Given the description of an element on the screen output the (x, y) to click on. 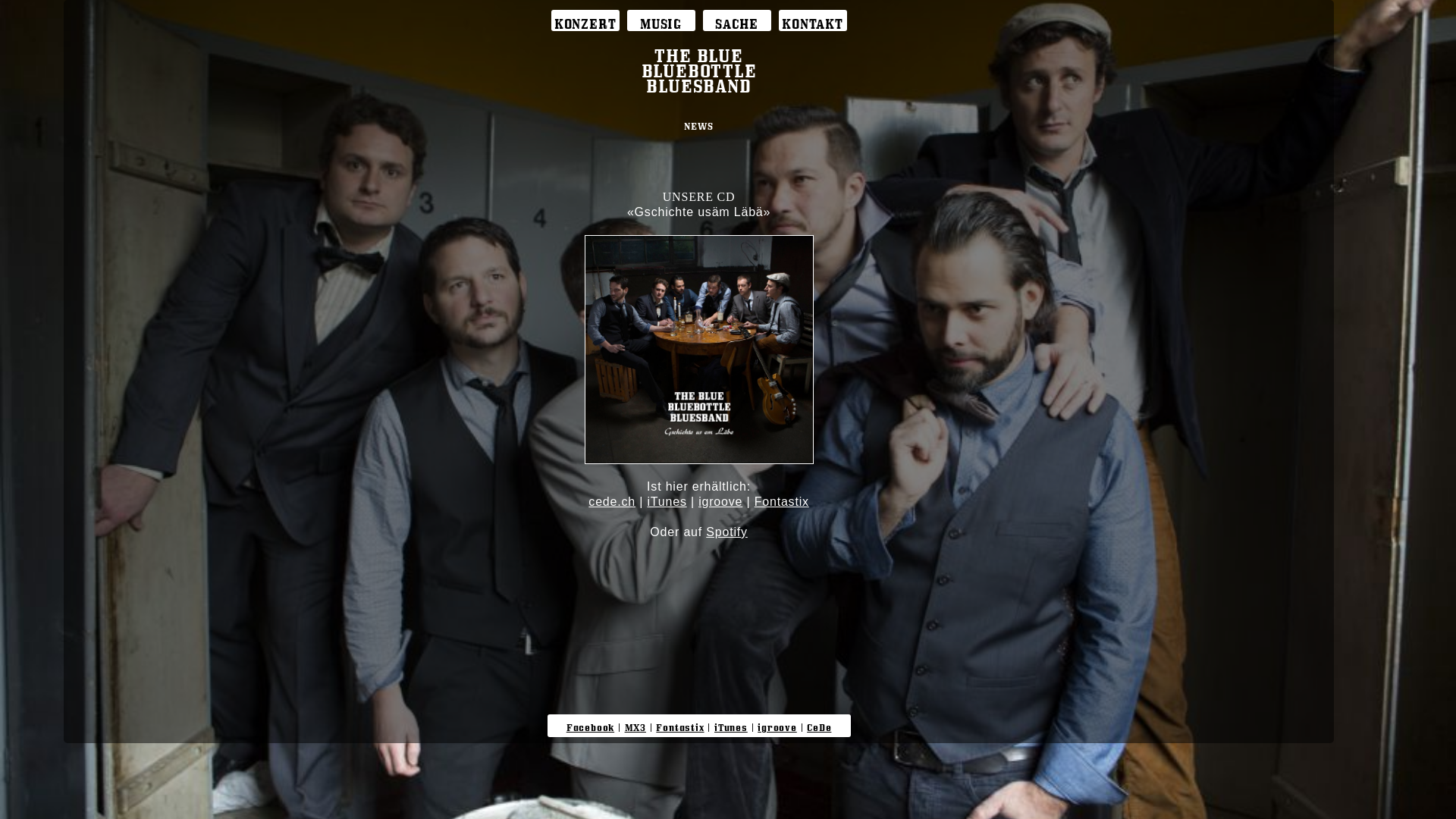
Fontastix Element type: text (679, 725)
Spotify Element type: text (726, 531)
igroove Element type: text (777, 725)
Fontastix Element type: text (781, 501)
Facebook Element type: text (590, 725)
cede.ch Element type: text (611, 501)
MX3 Element type: text (635, 725)
igroove Element type: text (720, 501)
THE BLUE
BLUEBOTTLE
BLUESBAND Element type: text (698, 66)
iTunes Element type: text (730, 725)
CeDe Element type: text (818, 725)
iTunes Element type: text (666, 501)
